Given the description of an element on the screen output the (x, y) to click on. 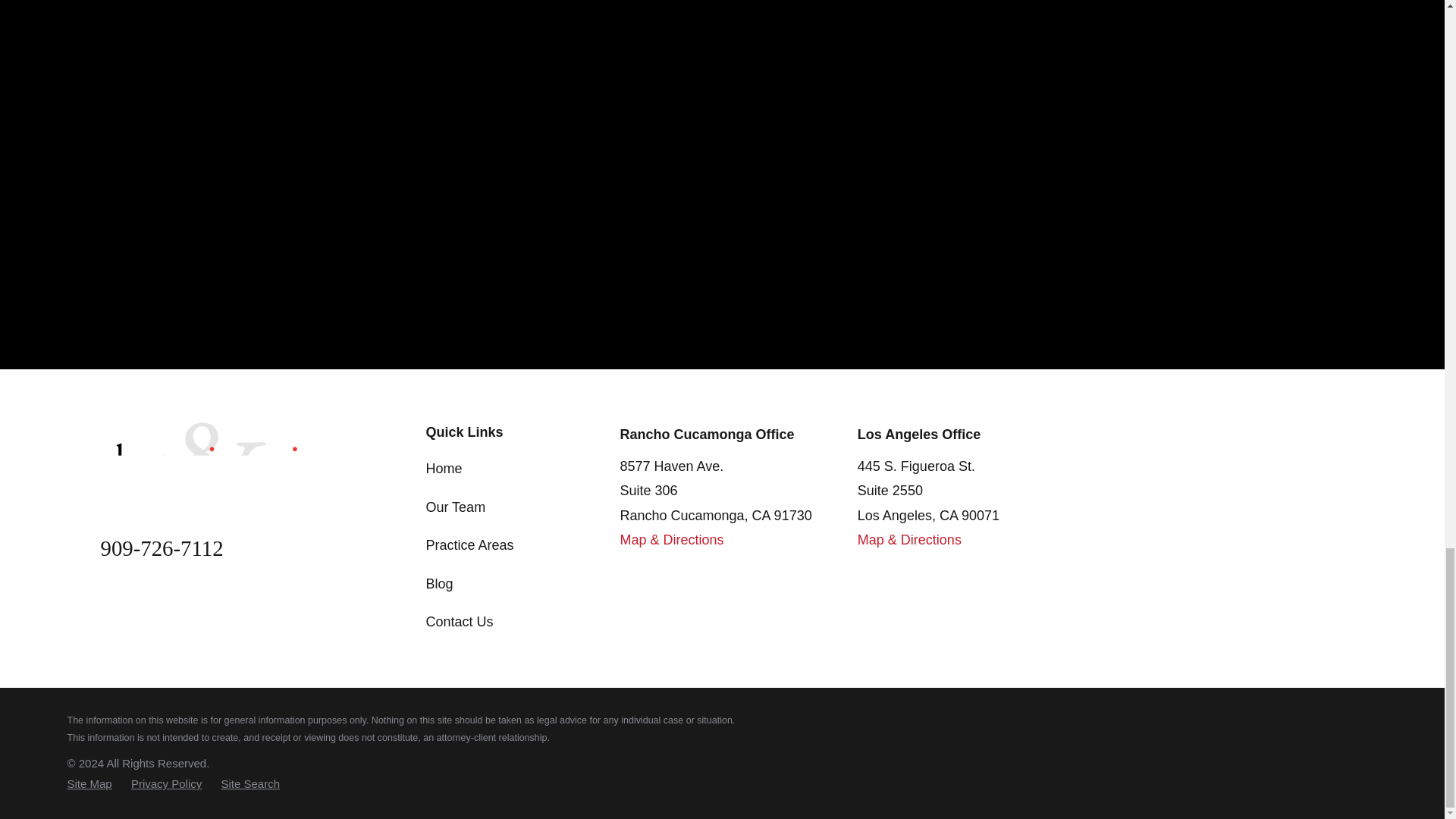
Home (209, 462)
